Given the description of an element on the screen output the (x, y) to click on. 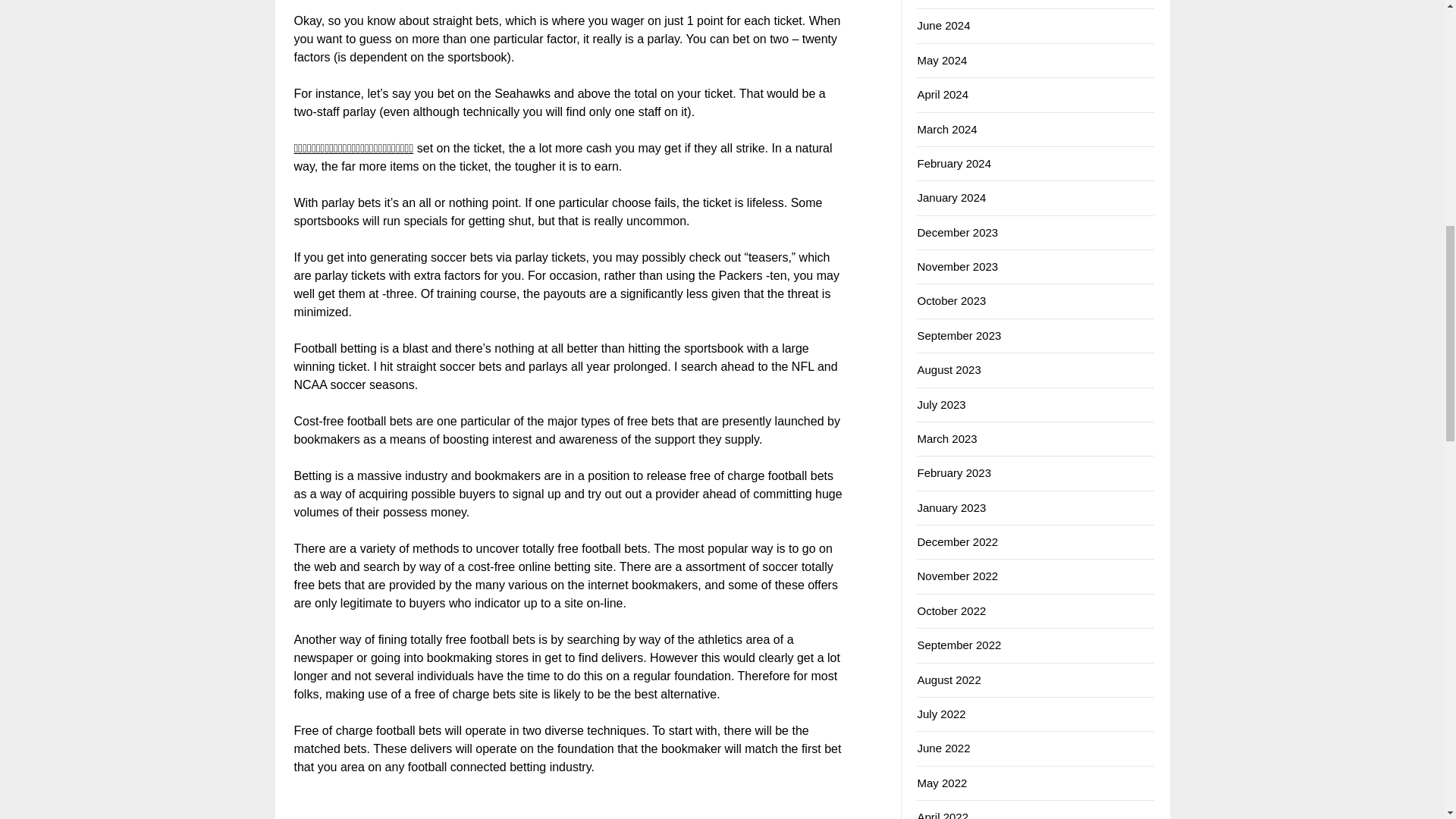
November 2023 (957, 266)
February 2024 (954, 163)
March 2024 (946, 128)
May 2024 (941, 60)
June 2024 (943, 24)
January 2024 (951, 196)
April 2024 (942, 93)
December 2023 (957, 232)
